Given the description of an element on the screen output the (x, y) to click on. 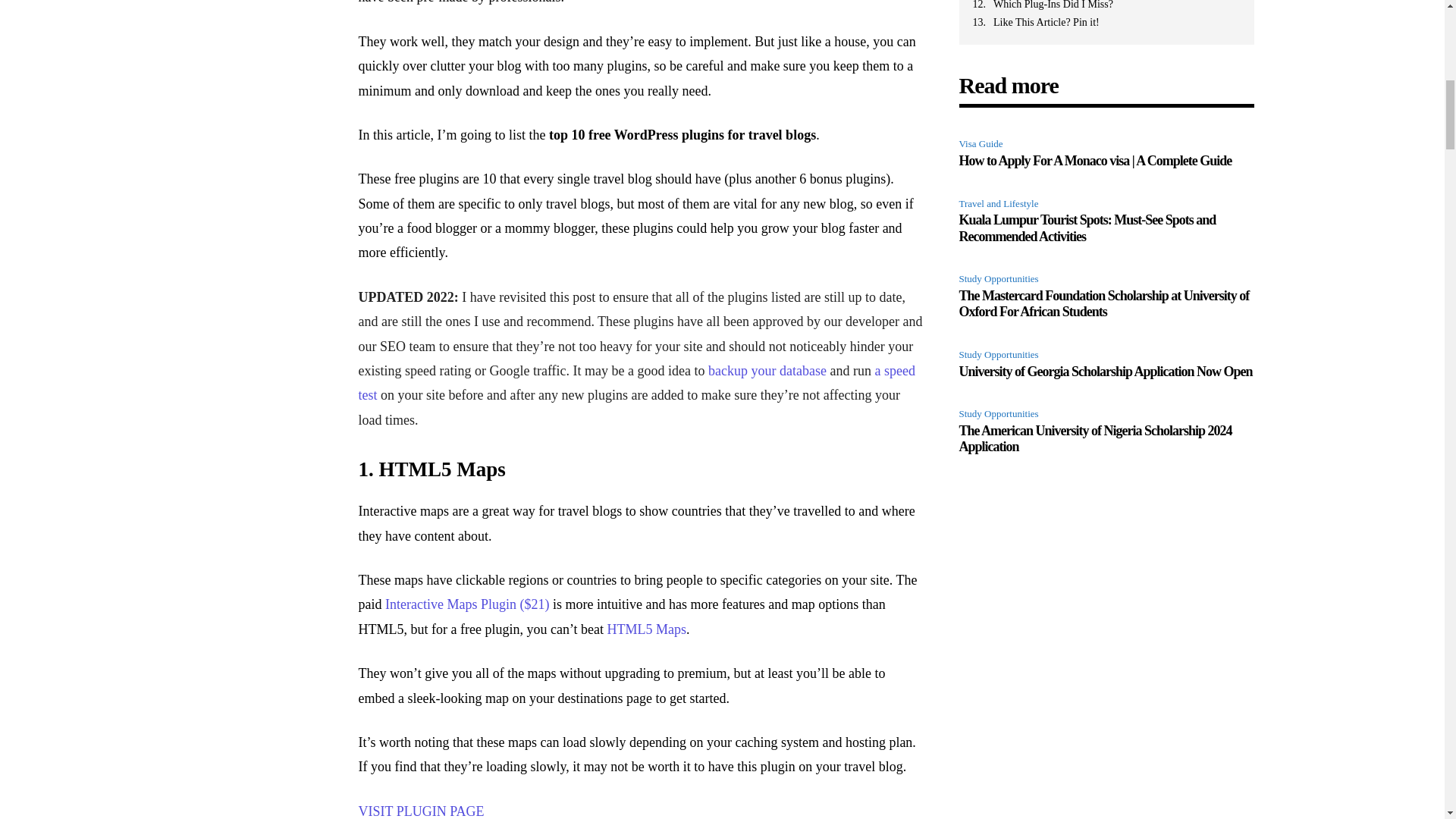
HTML5 Maps (647, 629)
VISIT PLUGIN PAGE (420, 811)
backup your database (767, 370)
a speed test (636, 382)
